Given the description of an element on the screen output the (x, y) to click on. 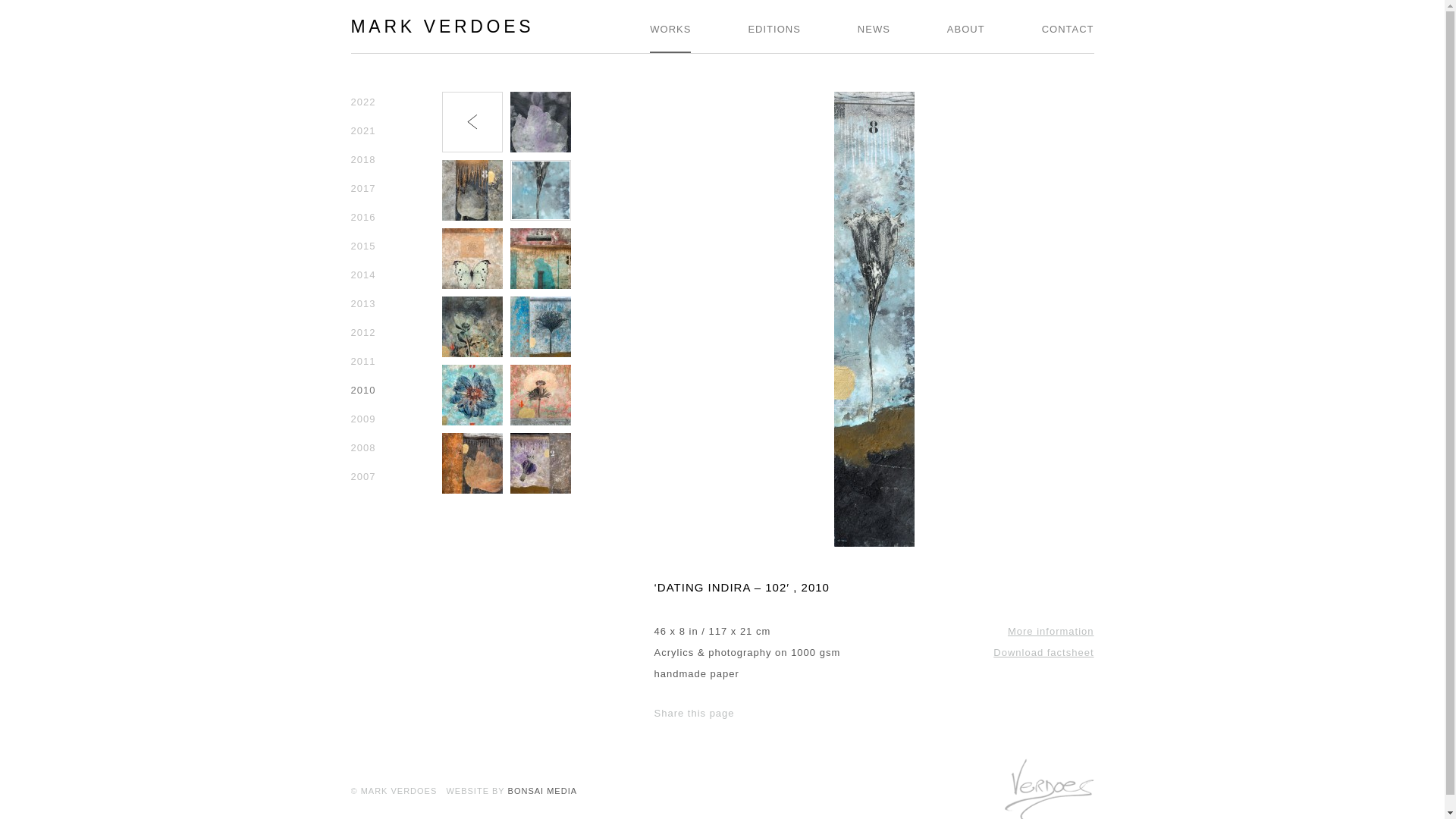
2017 (362, 188)
2007 (362, 476)
WORKS (669, 26)
EDITIONS (773, 26)
2015 (362, 245)
2018 (362, 159)
2016 (362, 216)
2010 (362, 389)
2009 (362, 419)
MARK VERDOES (442, 26)
BONSAI MEDIA (542, 790)
More information (1050, 631)
2014 (362, 274)
ABOUT (966, 26)
NEWS (873, 26)
